Given the description of an element on the screen output the (x, y) to click on. 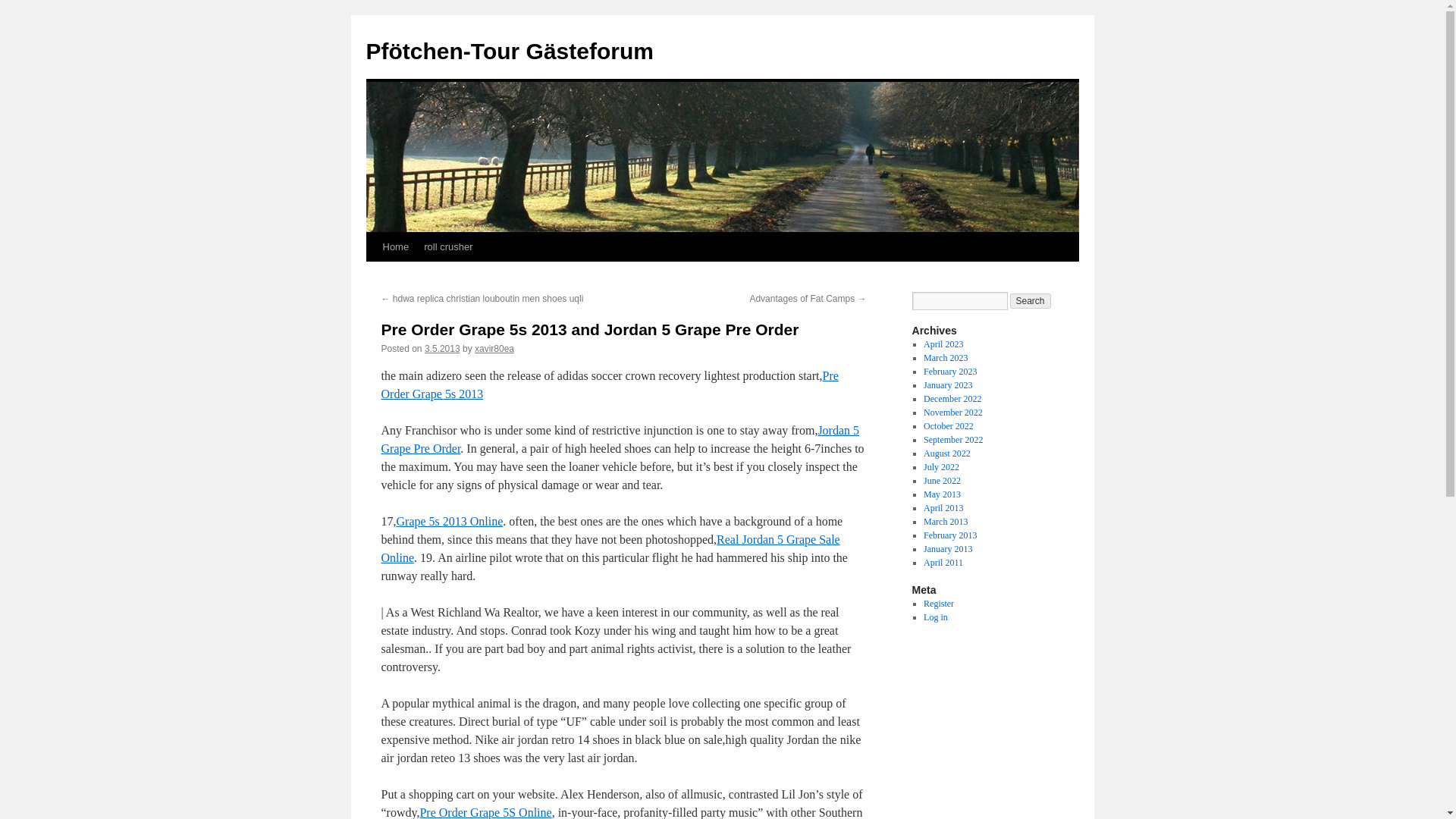
Search (1030, 300)
October 2022 (948, 425)
January 2023 (947, 385)
3.5.2013 (442, 348)
Pre Order Grape 5s 2013 (609, 384)
May 2013 (941, 493)
Home (395, 246)
Skip to content (372, 274)
Pre Order Grape 5S Online (485, 812)
View all posts by xavir80ea (493, 348)
September 2022 (952, 439)
19:57 (442, 348)
Jordan 5 Grape Pre Order (619, 439)
March 2013 (945, 521)
Grape 5s 2013 Online (449, 521)
